Given the description of an element on the screen output the (x, y) to click on. 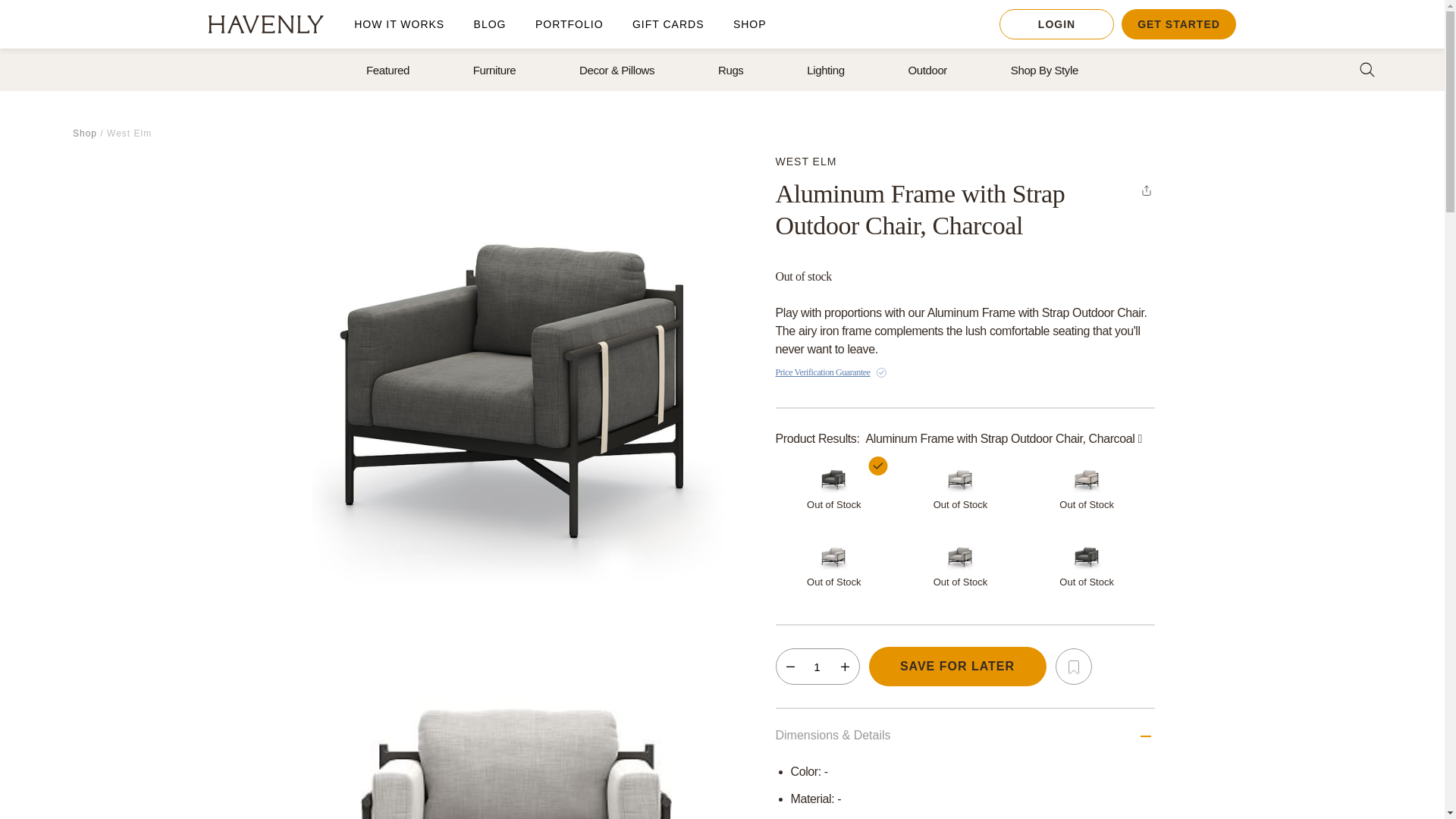
PORTFOLIO (569, 24)
HOW IT WORKS (398, 24)
